Given the description of an element on the screen output the (x, y) to click on. 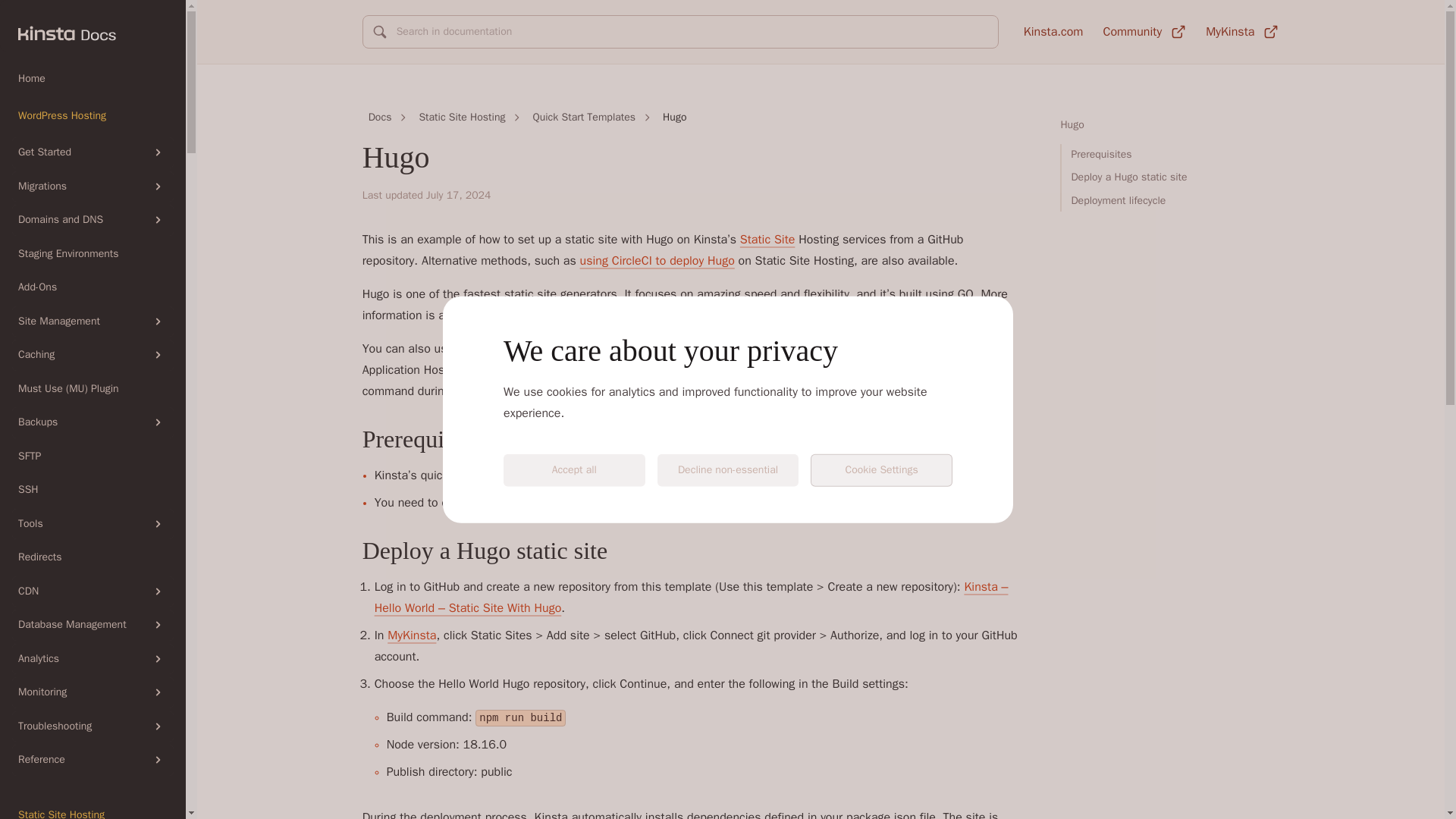
Get Started (92, 152)
Home (92, 79)
Site Management (92, 321)
Caching (92, 355)
Migrations (92, 186)
Add-Ons (92, 287)
Domains and DNS (92, 219)
WordPress Hosting (92, 115)
Staging Environments (92, 253)
